Given the description of an element on the screen output the (x, y) to click on. 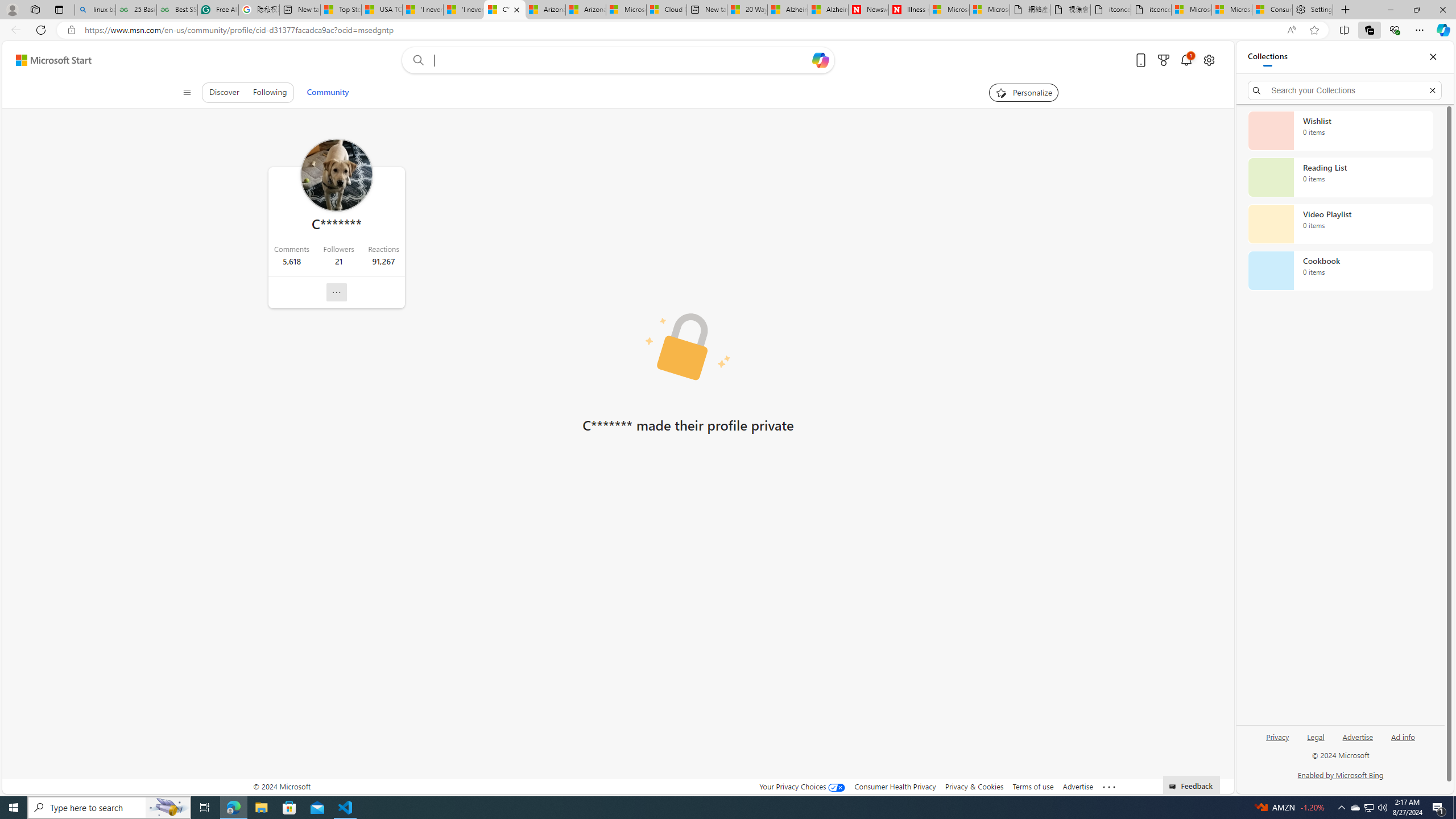
Community (327, 92)
Community (327, 92)
